Given the description of an element on the screen output the (x, y) to click on. 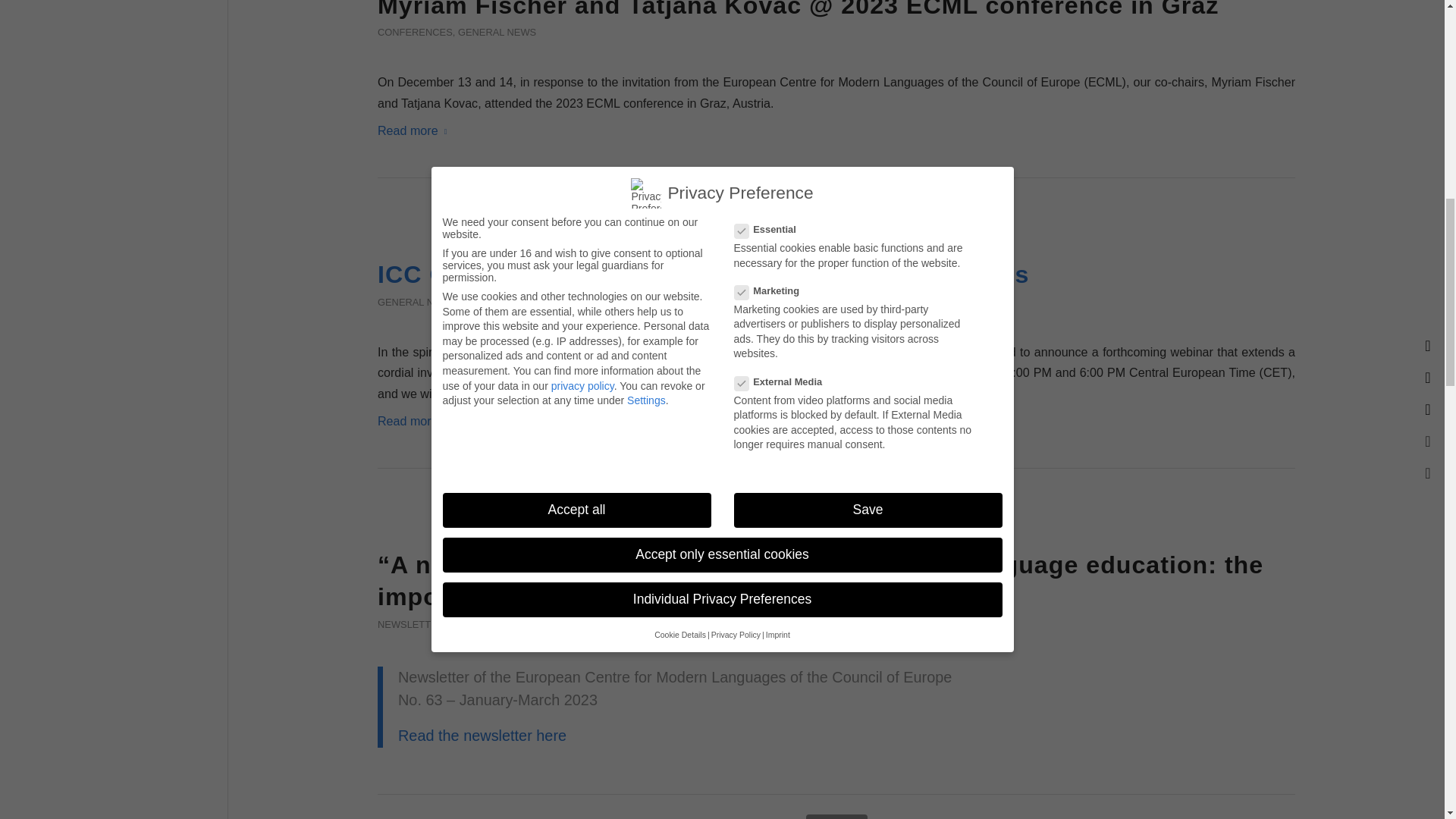
ICC Bubble (835, 518)
ICC-European Day of Languages 2023 (835, 228)
